Given the description of an element on the screen output the (x, y) to click on. 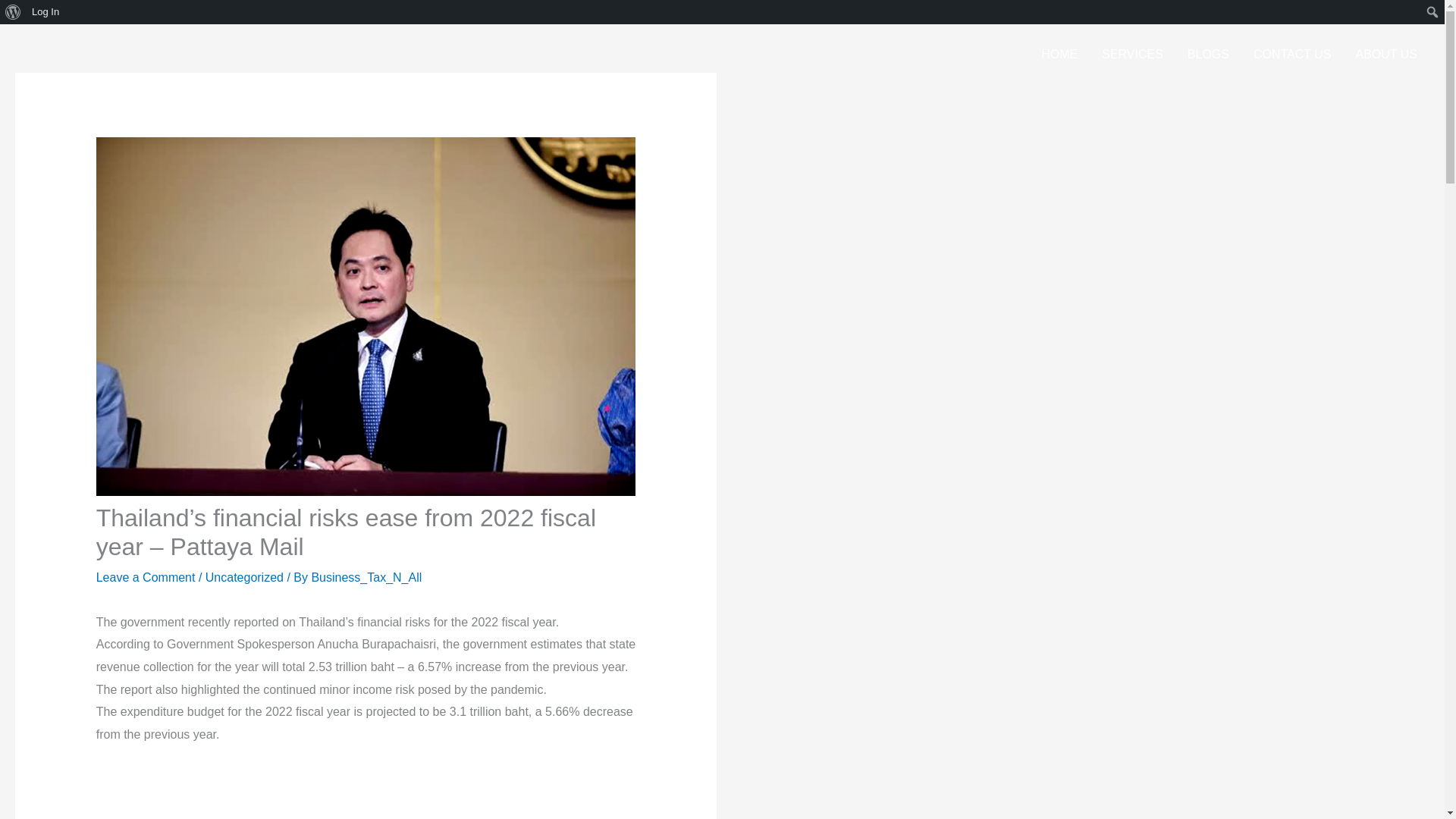
SERVICES (1131, 54)
HOME (1059, 54)
CONTACT US (1292, 54)
ABOUT US (1386, 54)
BLOGS (1207, 54)
Search (15, 12)
Uncategorized (244, 576)
Log In (45, 12)
Leave a Comment (145, 576)
